Given the description of an element on the screen output the (x, y) to click on. 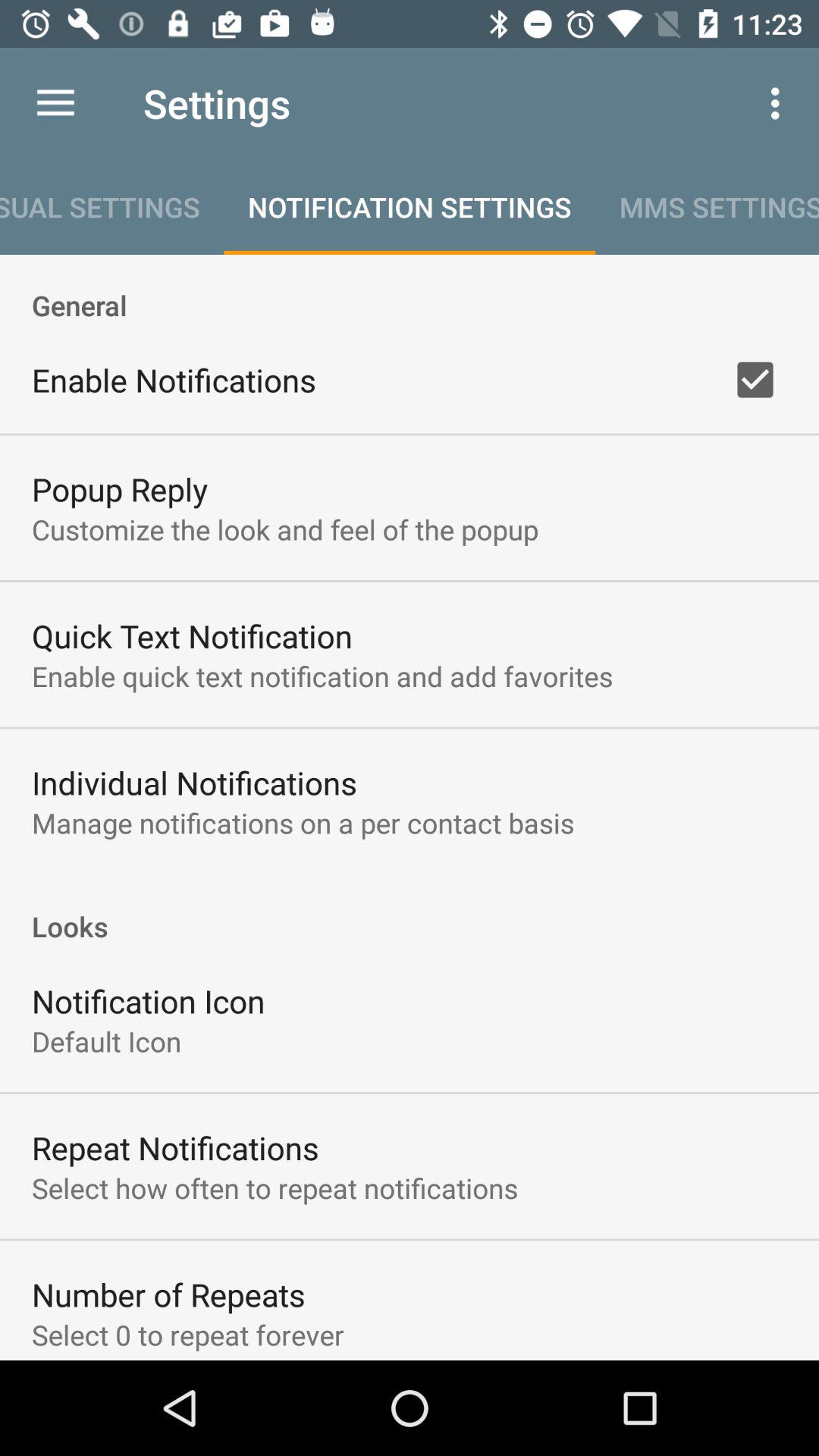
select customize the look item (284, 529)
